Given the description of an element on the screen output the (x, y) to click on. 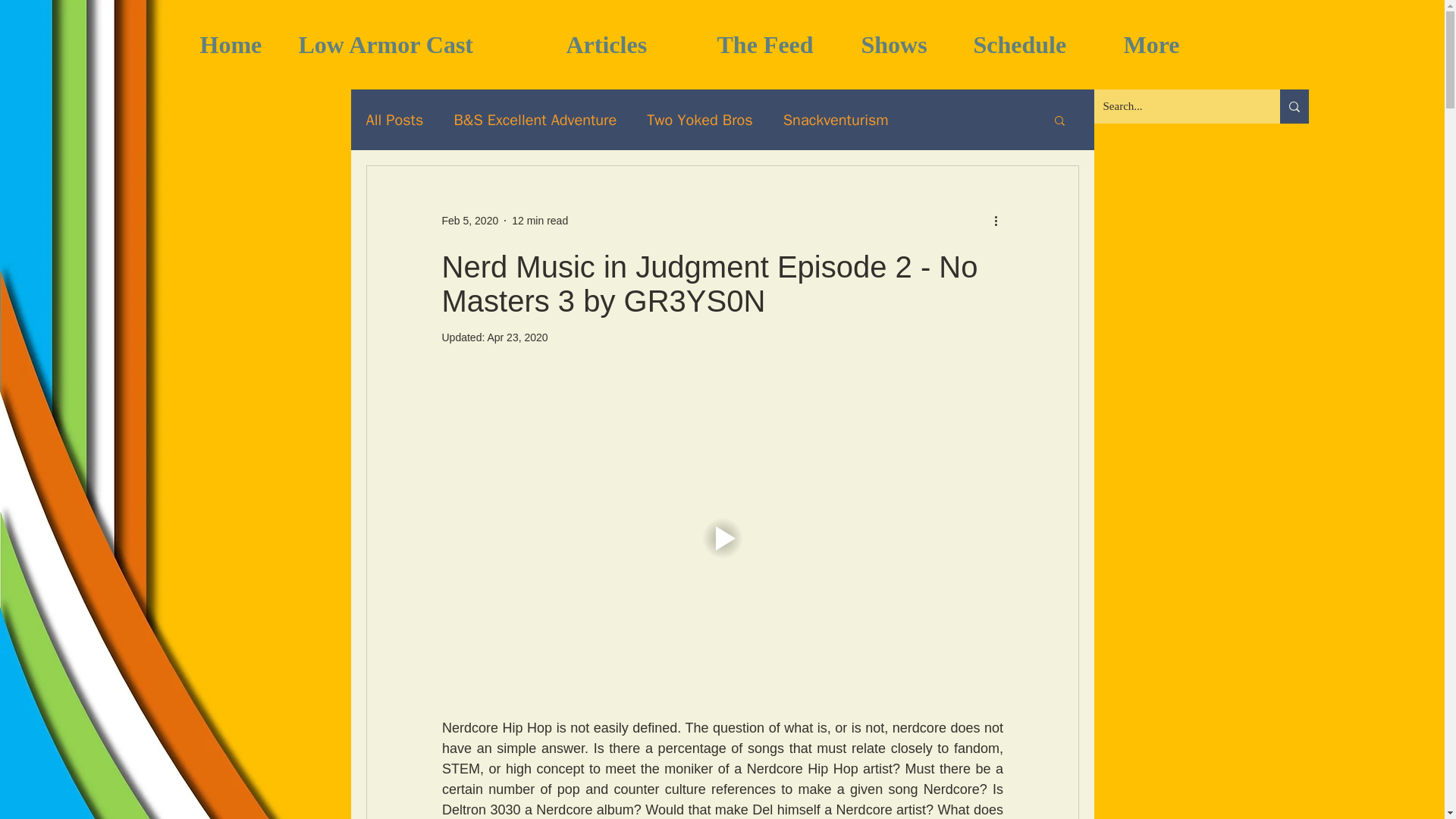
Snackventurism (835, 118)
Apr 23, 2020 (516, 337)
Shows (904, 44)
Two Yoked Bros (699, 118)
Schedule (1036, 44)
Articles (630, 44)
Low Armor Cast (420, 44)
12 min read (539, 219)
All Posts (394, 118)
Feb 5, 2020 (469, 219)
